Given the description of an element on the screen output the (x, y) to click on. 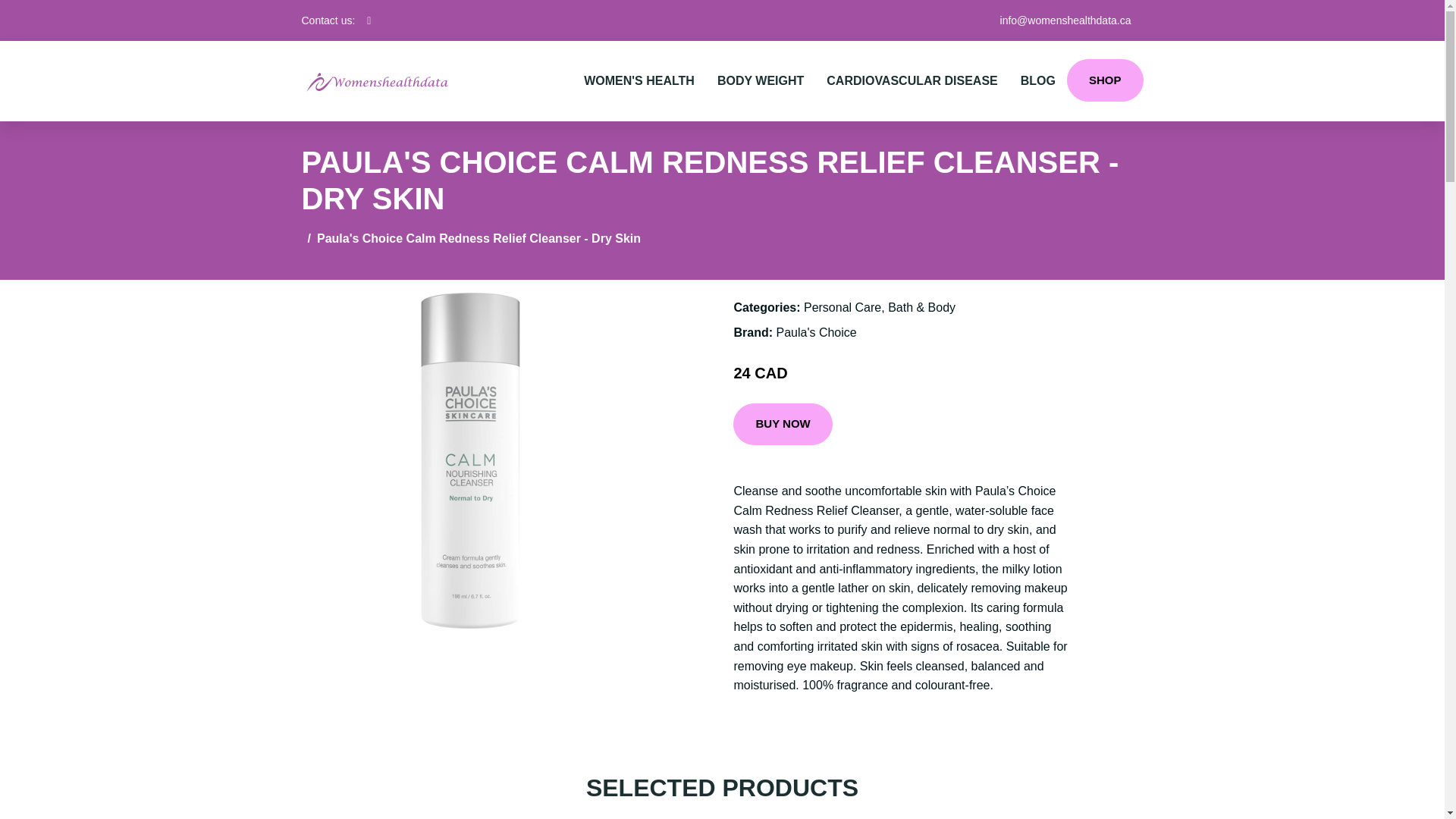
Personal Care (841, 307)
BUY NOW (782, 424)
BODY WEIGHT (760, 80)
SHOP (1104, 79)
CARDIOVASCULAR DISEASE (912, 80)
WOMEN'S HEALTH (639, 80)
